Given the description of an element on the screen output the (x, y) to click on. 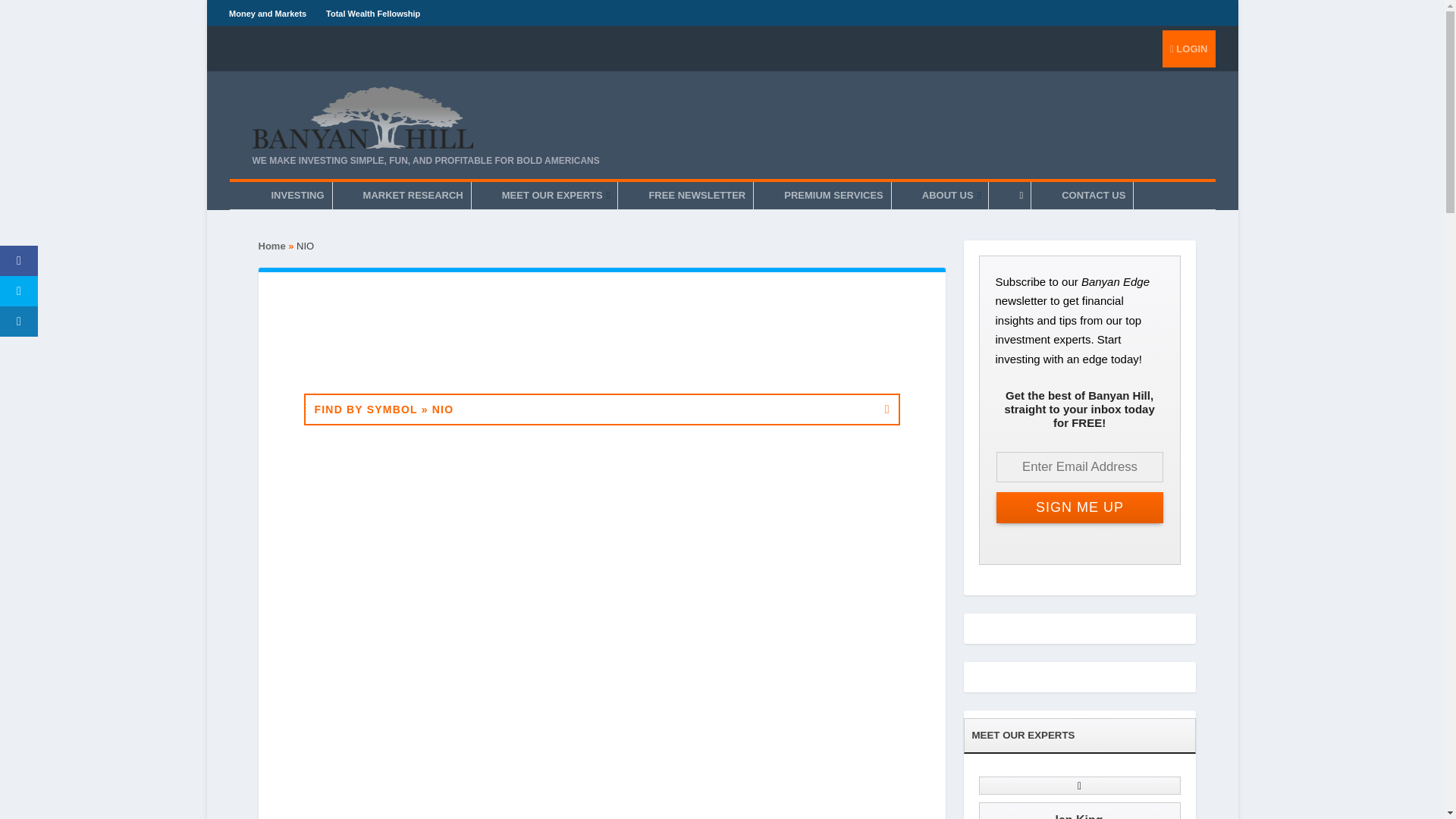
MEET OUR EXPERTS (556, 195)
FREE NEWSLETTER (696, 195)
Market Research (412, 195)
Total Wealth Fellowship (373, 13)
Money and Markets (266, 13)
ABOUT US (951, 195)
Home (271, 245)
MARKET RESEARCH (412, 195)
INVESTING (297, 195)
PREMIUM SERVICES (833, 195)
